Given the description of an element on the screen output the (x, y) to click on. 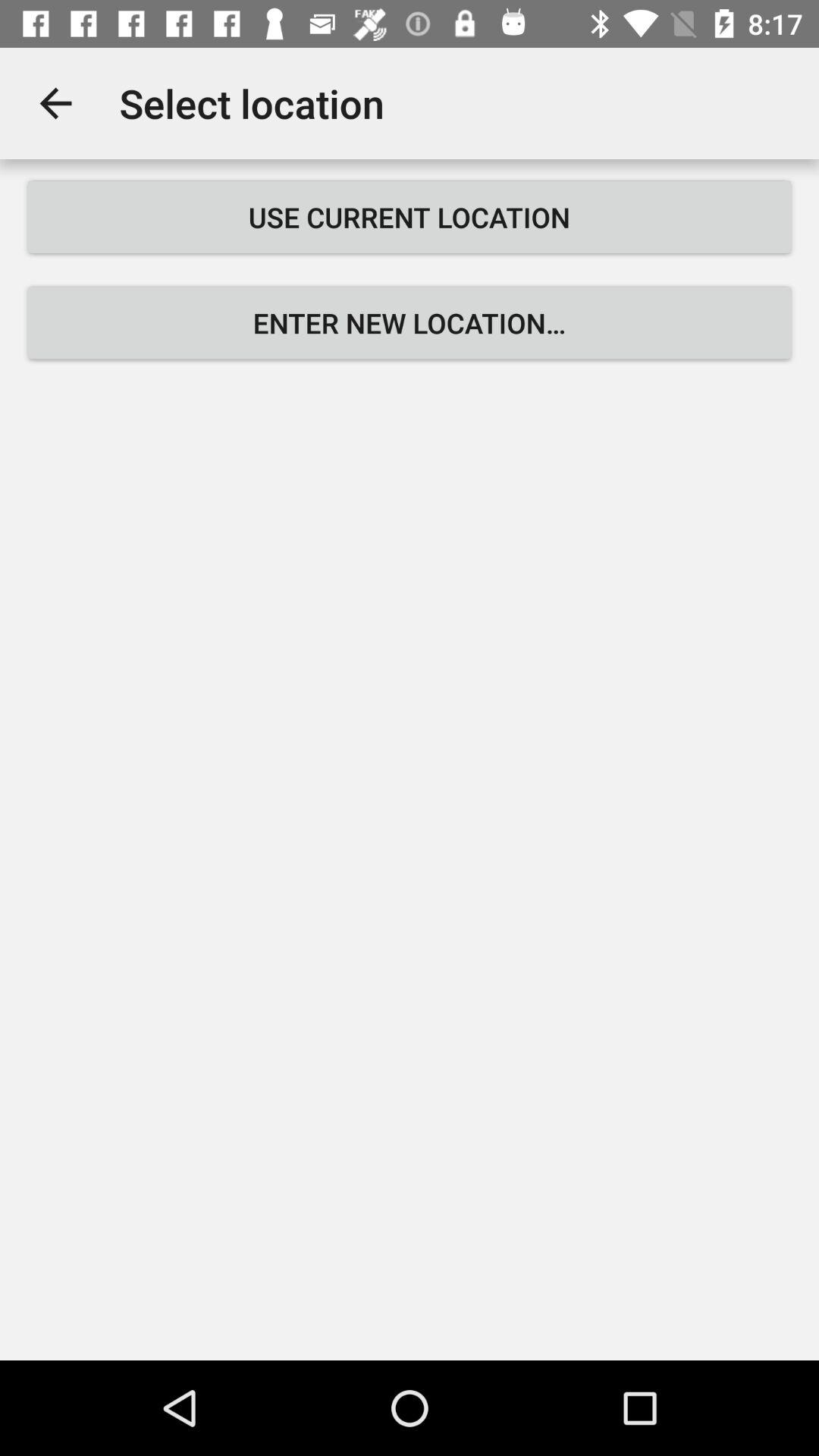
tap the item to the left of select location (55, 103)
